Given the description of an element on the screen output the (x, y) to click on. 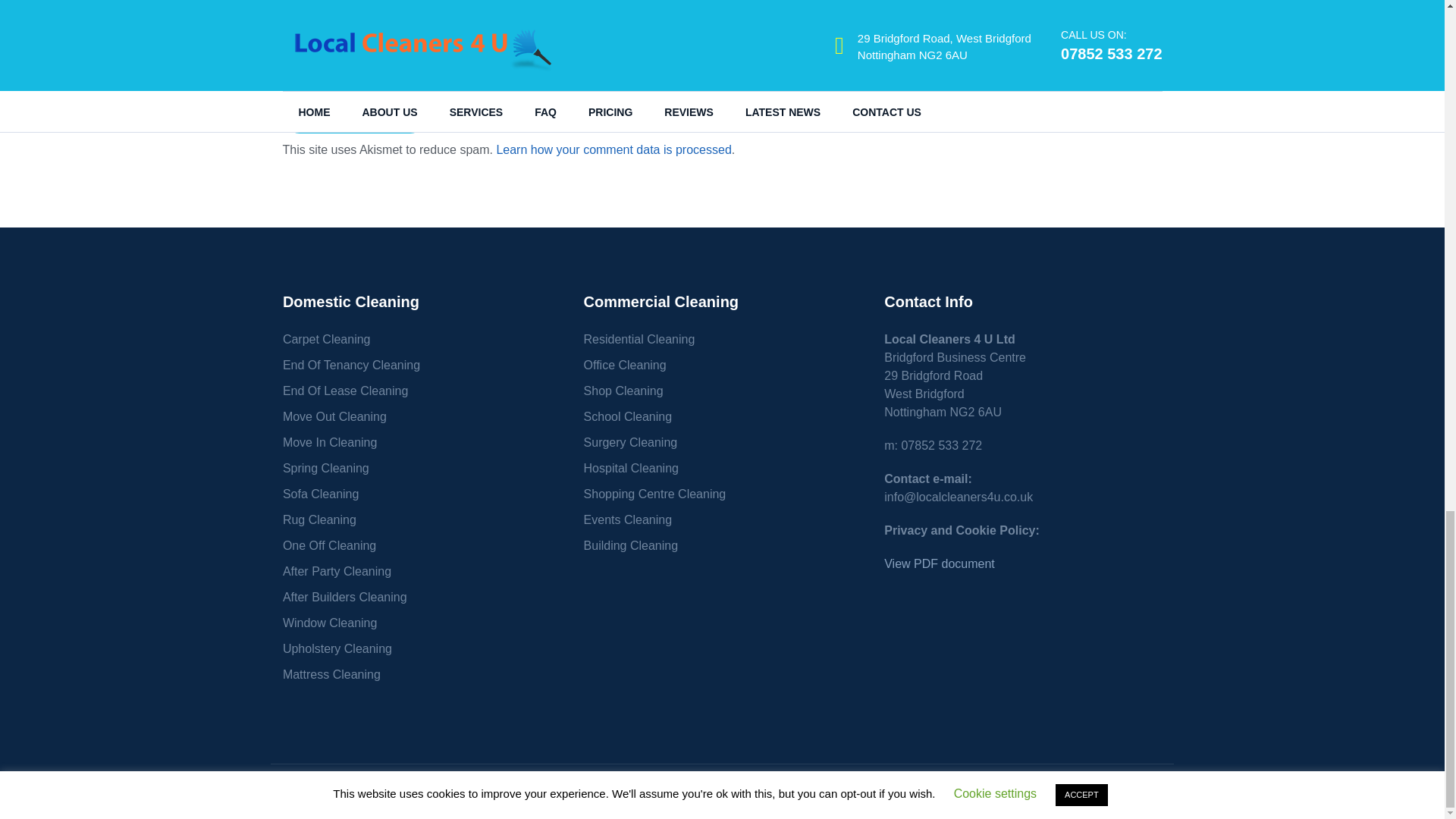
Twitter (1123, 791)
Learn how your comment data is processed (613, 149)
View PDF document (938, 563)
Add Comment (354, 116)
Facebook (1046, 791)
yes (287, 71)
Instagram (1097, 791)
Add Comment (354, 116)
YouTube (1148, 791)
